Given the description of an element on the screen output the (x, y) to click on. 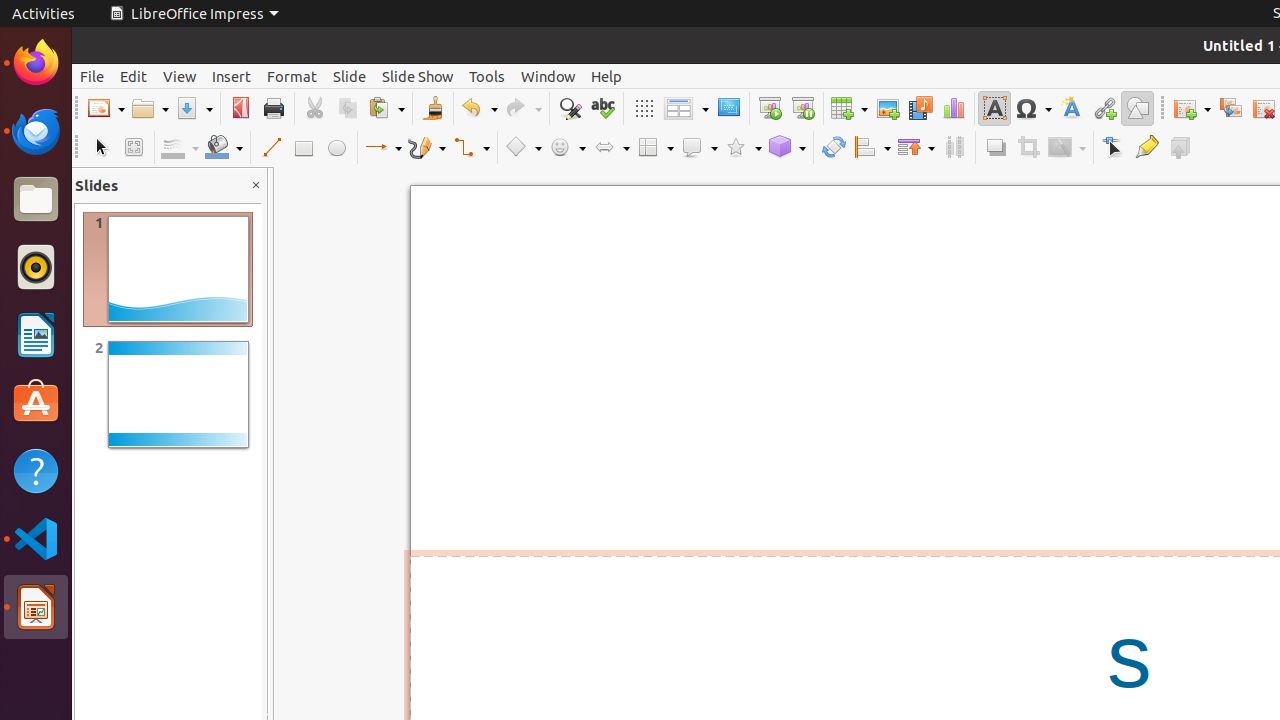
Text Box Element type: push-button (994, 108)
Lines and Arrows Element type: push-button (383, 147)
Basic Shapes Element type: push-button (523, 147)
Edit Element type: menu (133, 76)
Print Element type: push-button (273, 108)
